Given the description of an element on the screen output the (x, y) to click on. 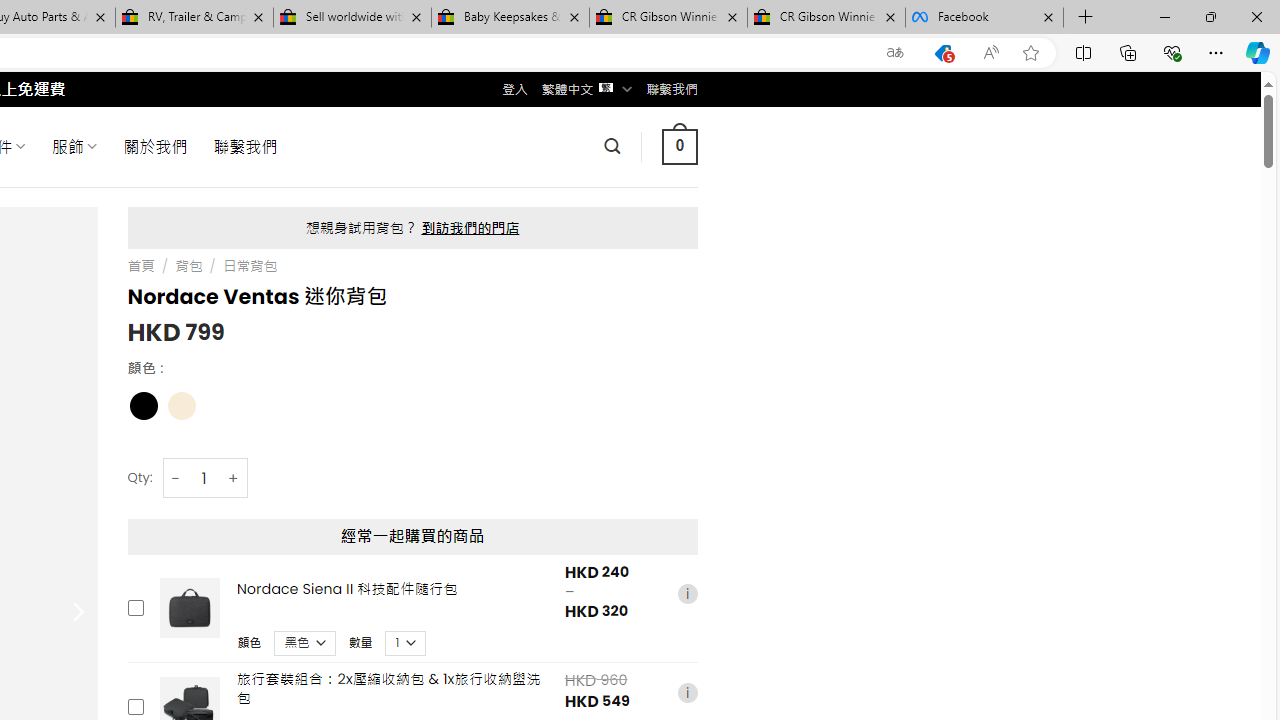
This site has coupons! Shopping in Microsoft Edge, 5 (943, 53)
Show translate options (895, 53)
Facebook (984, 17)
 0  (679, 146)
Baby Keepsakes & Announcements for sale | eBay (509, 17)
